Given the description of an element on the screen output the (x, y) to click on. 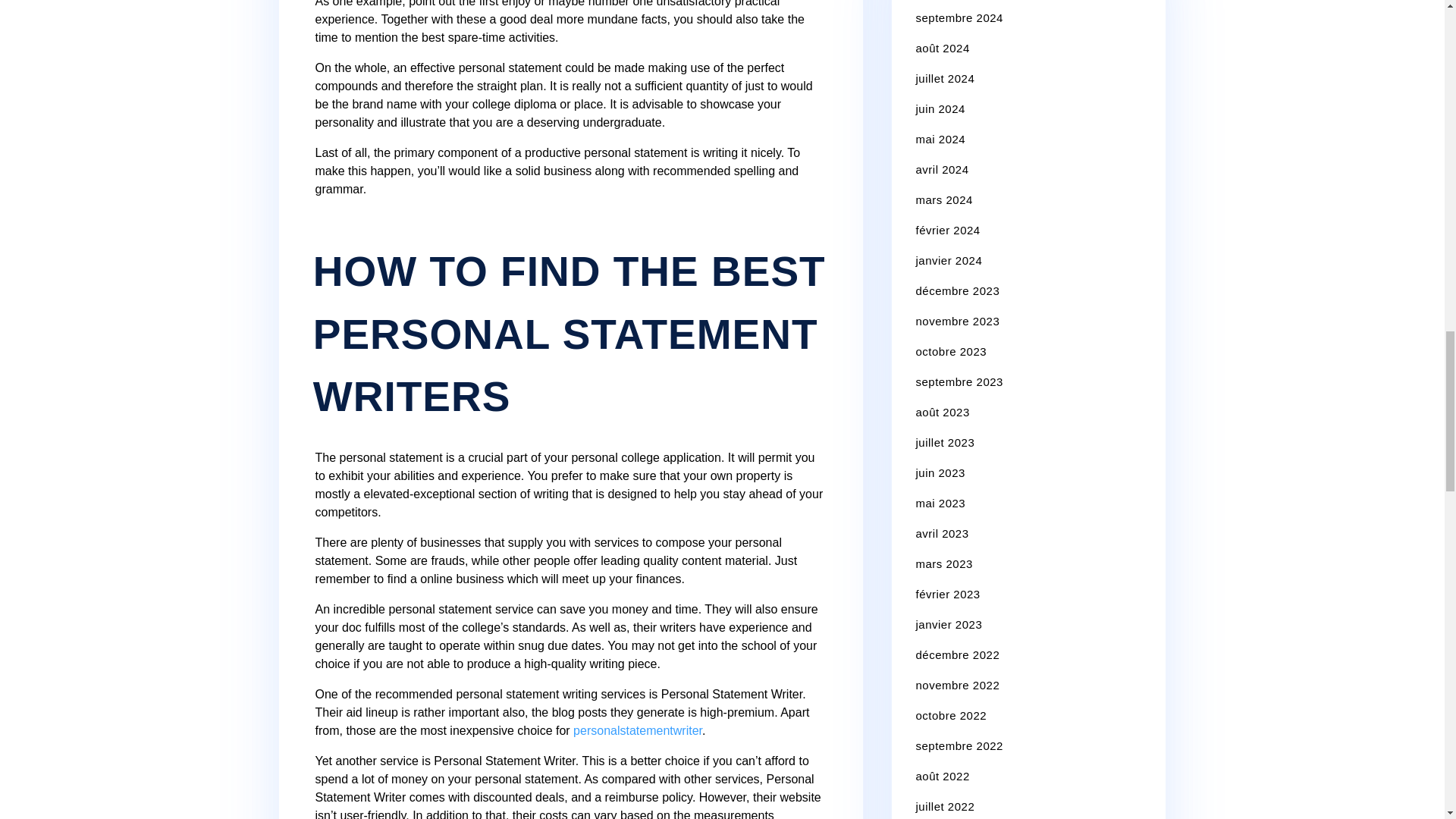
personalstatementwriter (637, 730)
juin 2024 (940, 108)
mars 2024 (943, 199)
juillet 2024 (945, 78)
avril 2024 (942, 169)
mai 2024 (940, 138)
janvier 2024 (948, 259)
septembre 2024 (959, 17)
